Given the description of an element on the screen output the (x, y) to click on. 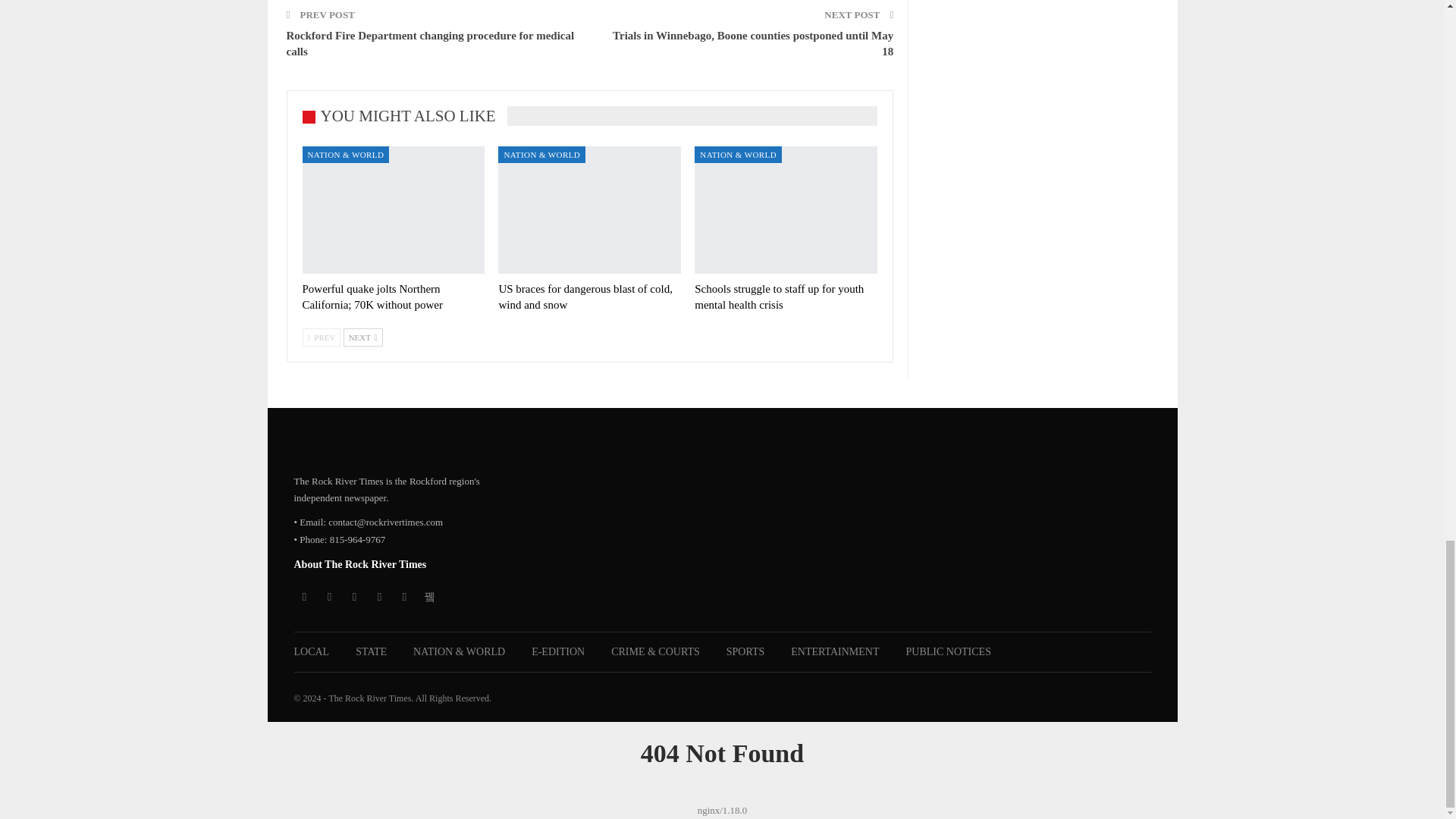
US braces for dangerous blast of cold, wind and snow (589, 210)
Trials in Winnebago, Boone counties postponed until May 18 (752, 43)
US braces for dangerous blast of cold, wind and snow (584, 296)
Schools struggle to staff up for youth mental health crisis (778, 296)
Powerful quake jolts Northern California; 70K without power (371, 296)
YOU MIGHT ALSO LIKE (403, 116)
Previous (320, 337)
Next (362, 337)
Schools struggle to staff up for youth mental health crisis (785, 210)
